Given the description of an element on the screen output the (x, y) to click on. 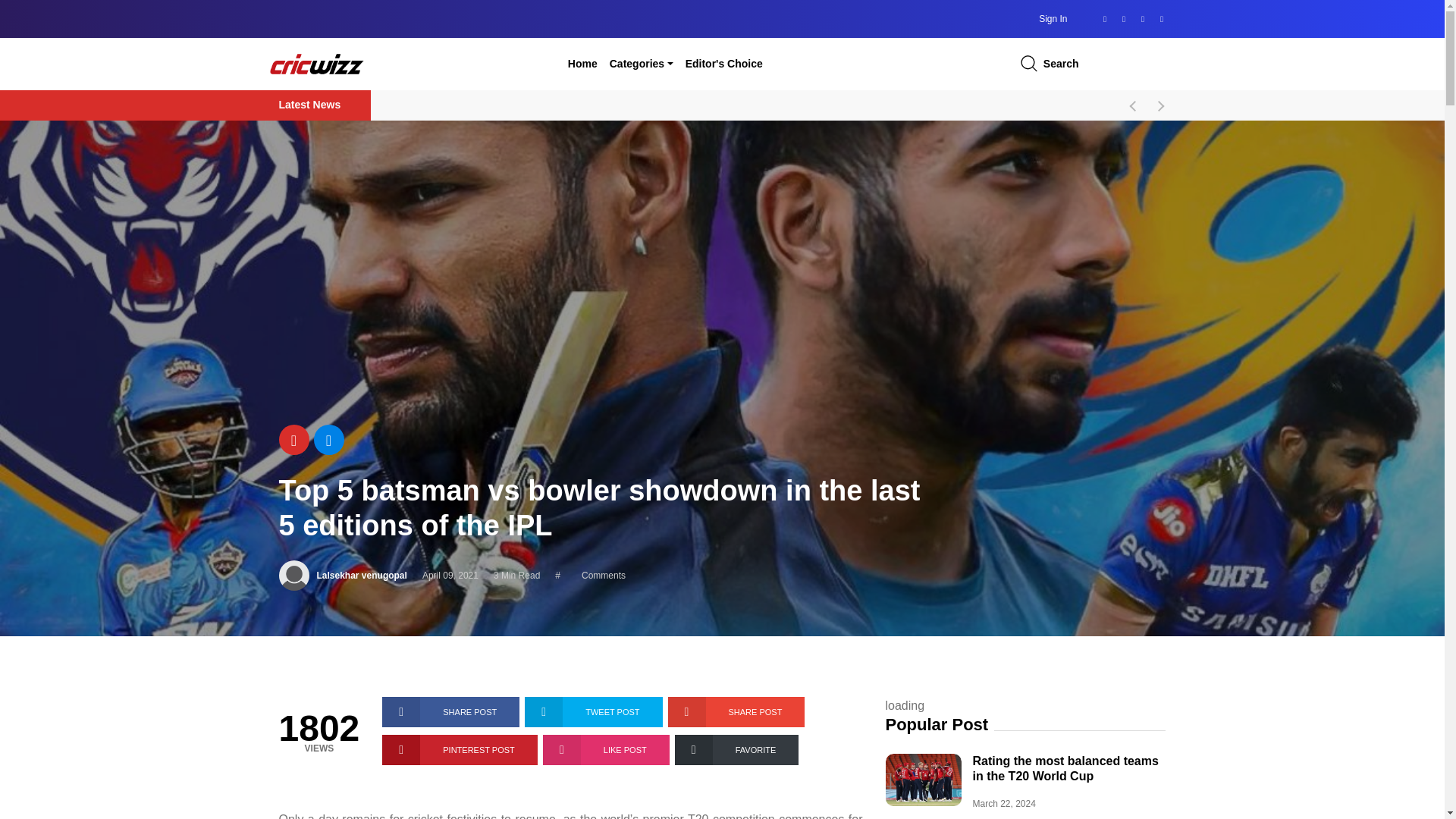
Categories (641, 63)
Home (583, 63)
Editor'S Choice (723, 63)
Sign In (1052, 19)
Lalsekhar venugopal (362, 575)
FAVORITE (737, 749)
PINTEREST POST (459, 749)
TWEET POST (593, 711)
SHARE POST (450, 711)
SHARE POST (735, 711)
